Given the description of an element on the screen output the (x, y) to click on. 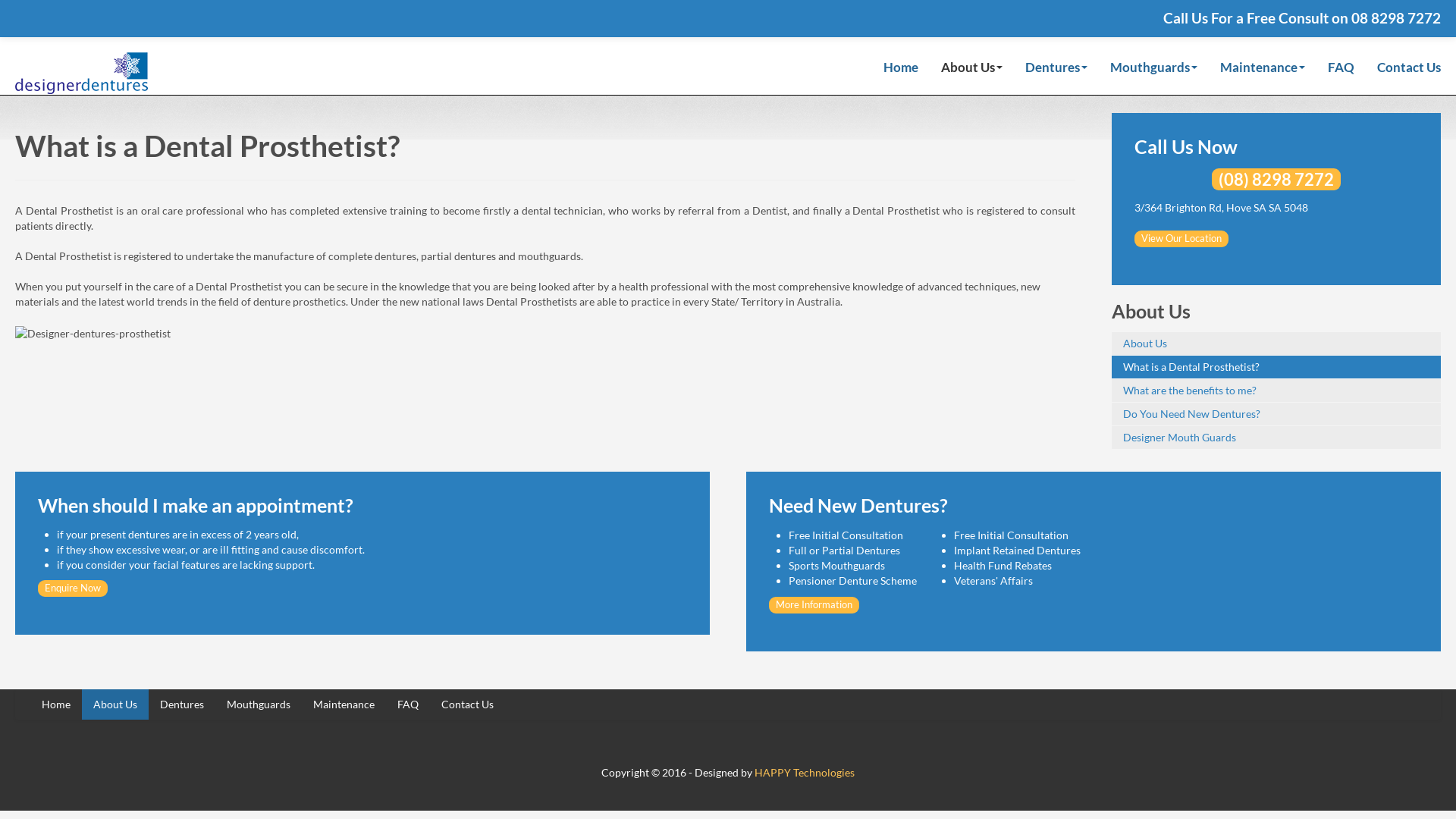
(08) 8298 7272 Element type: text (1275, 179)
Do You Need New Dentures? Element type: text (1275, 413)
Contact Us Element type: text (467, 704)
Dentures Element type: text (181, 704)
Designer Mouth Guards Element type: text (1275, 437)
FAQ Element type: text (407, 704)
FAQ Element type: text (1340, 71)
About Us Element type: text (971, 71)
What are the benefits to me? Element type: text (1275, 390)
Maintenance Element type: text (343, 704)
Maintenance Element type: text (1262, 71)
Enquire Now Element type: text (72, 588)
Mouthguards Element type: text (258, 704)
View Our Location Element type: text (1181, 238)
What is a Dental Prosthetist? Element type: text (1275, 366)
About Us Element type: text (1275, 343)
HAPPY Technologies Element type: text (804, 771)
More Information Element type: text (813, 604)
Contact Us Element type: text (1402, 71)
Home Element type: text (55, 704)
Mouthguards Element type: text (1153, 71)
Home Element type: text (900, 71)
Dentures Element type: text (1055, 71)
About Us Element type: text (114, 704)
